Given the description of an element on the screen output the (x, y) to click on. 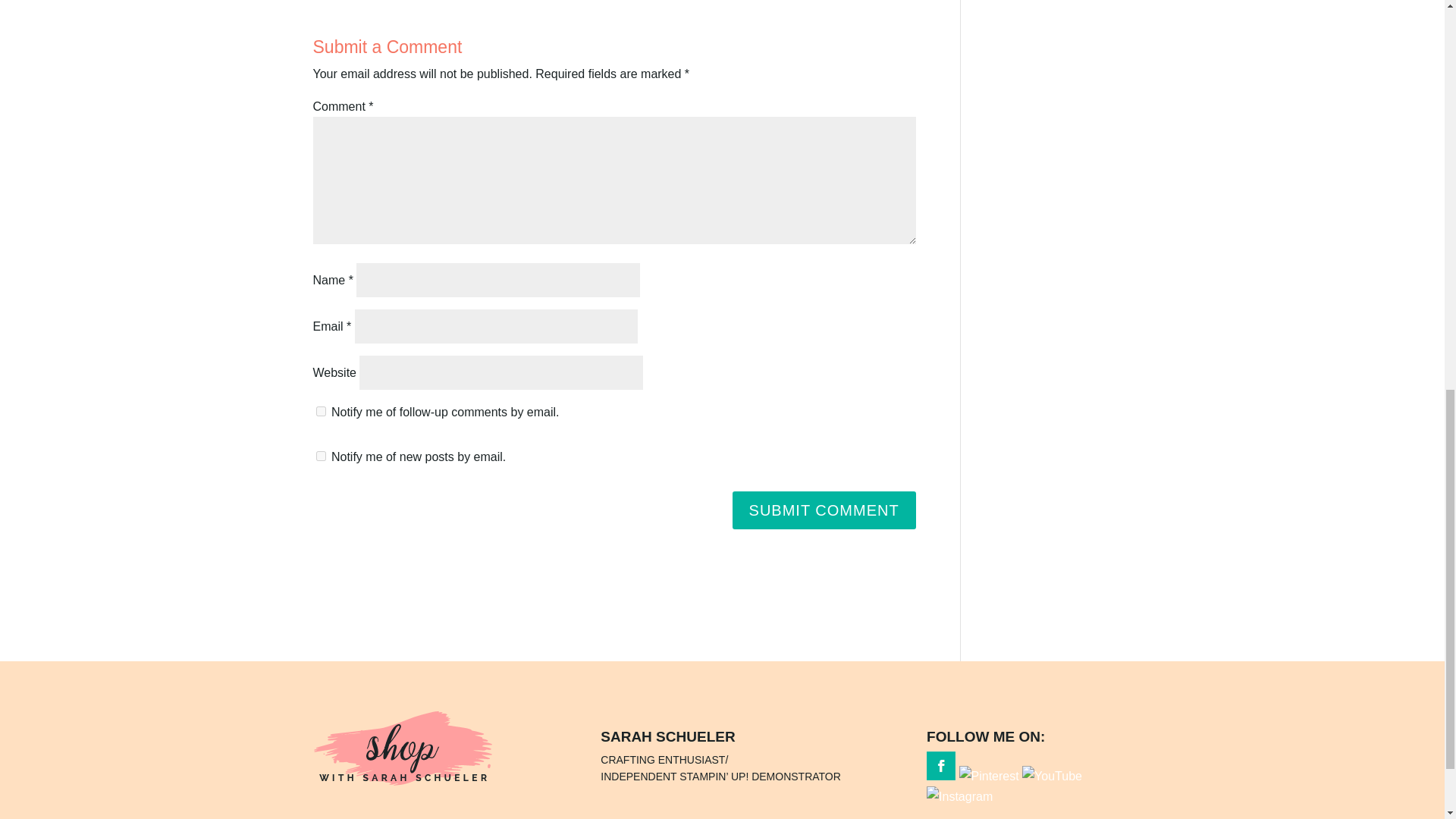
Submit Comment (823, 510)
Submit Comment (823, 510)
subscribe (319, 456)
subscribe (319, 411)
